Given the description of an element on the screen output the (x, y) to click on. 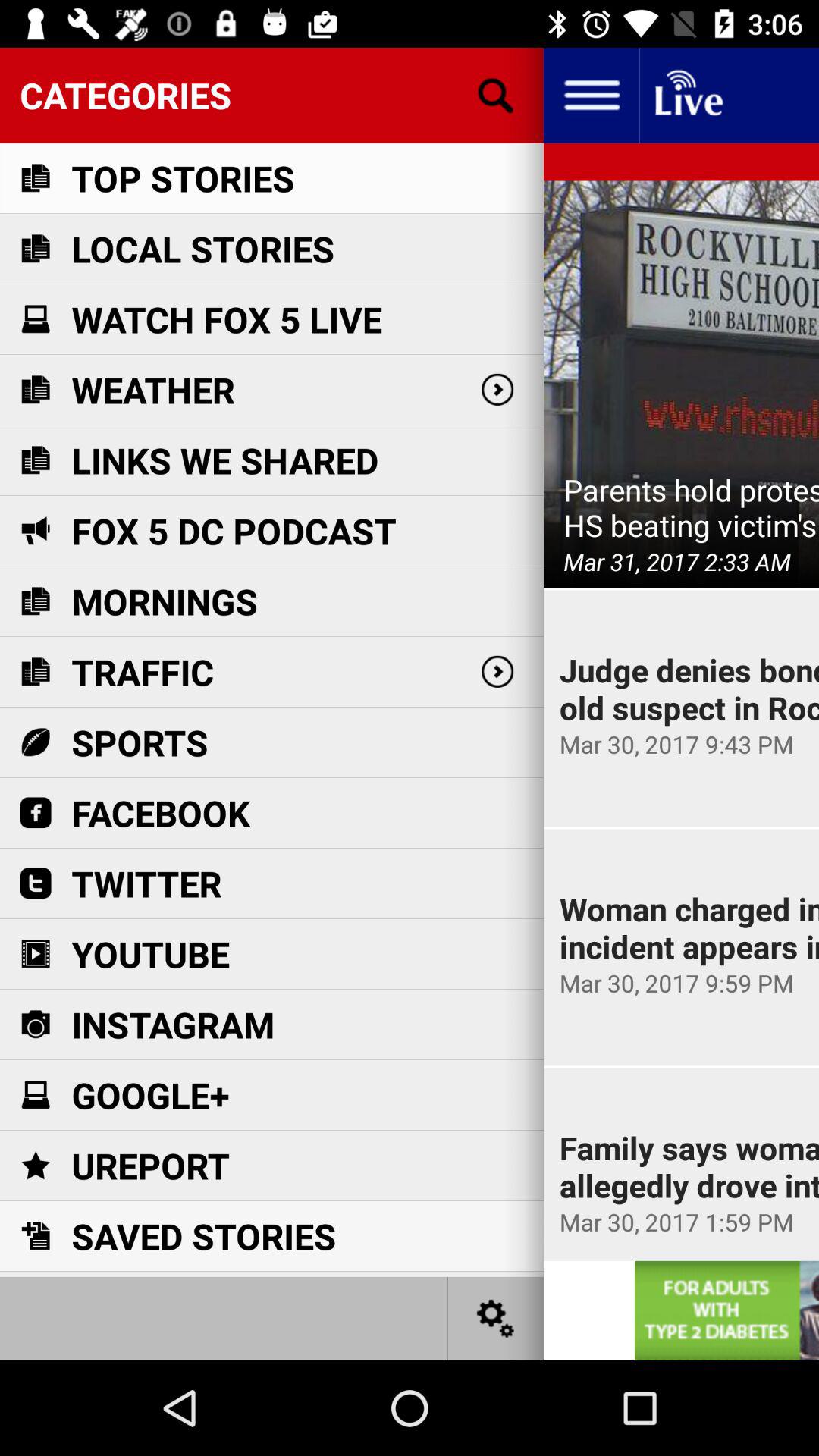
close sidebar (591, 95)
